Given the description of an element on the screen output the (x, y) to click on. 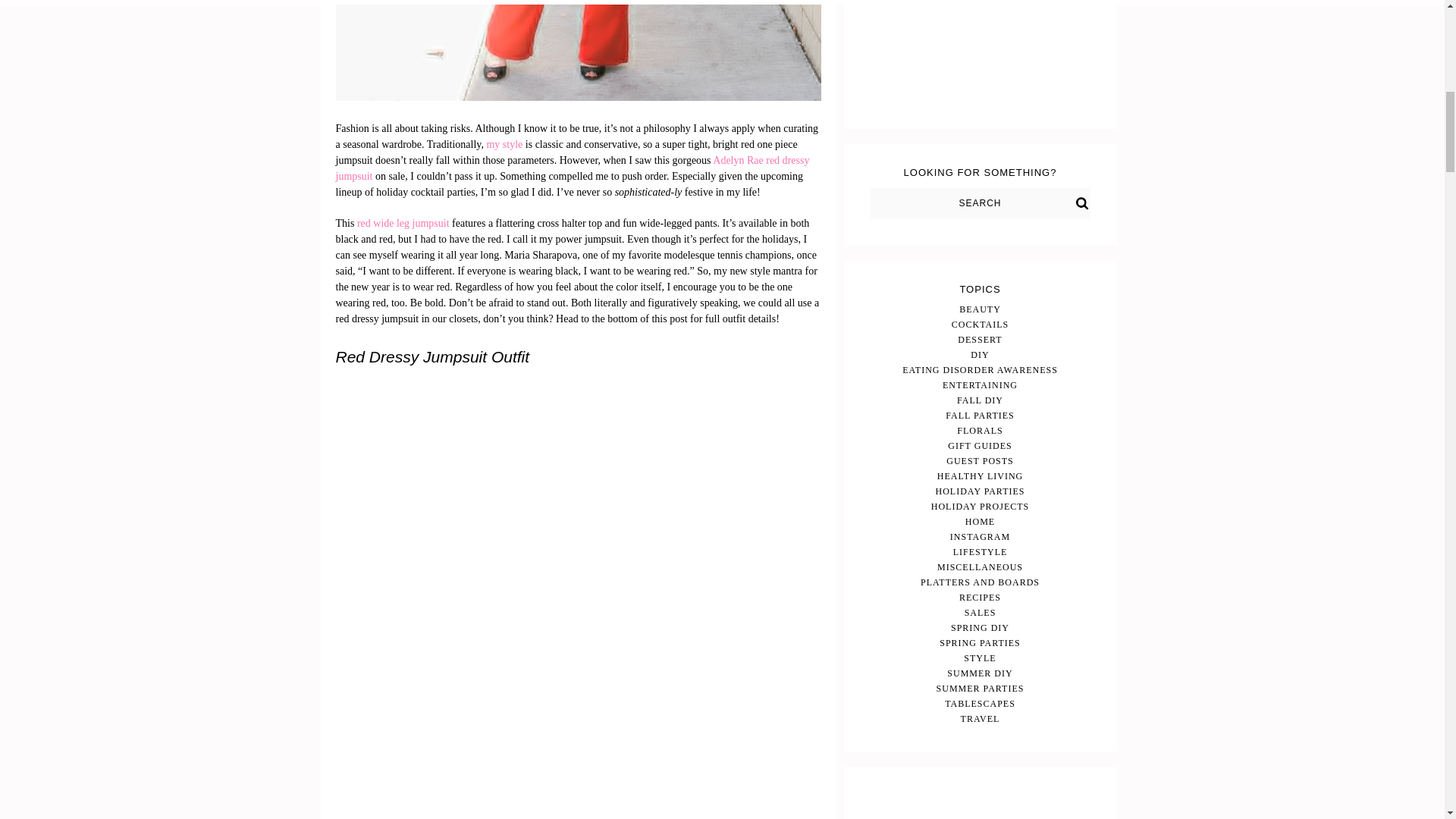
SEARCH (980, 203)
